Given the description of an element on the screen output the (x, y) to click on. 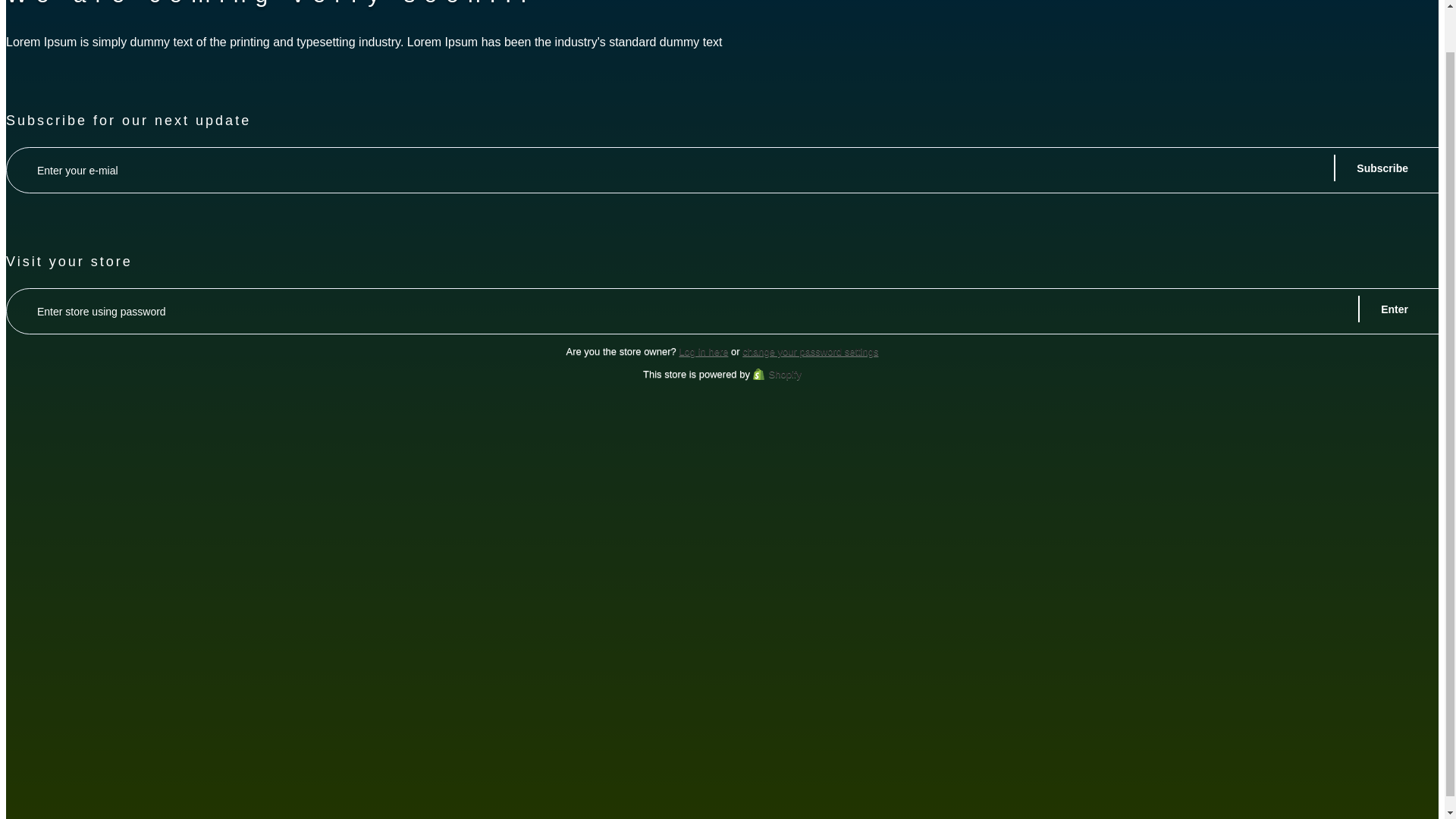
Log in here (703, 351)
Shopify (777, 374)
Create your own online store with Shopify (777, 374)
change your password settings (809, 351)
